Given the description of an element on the screen output the (x, y) to click on. 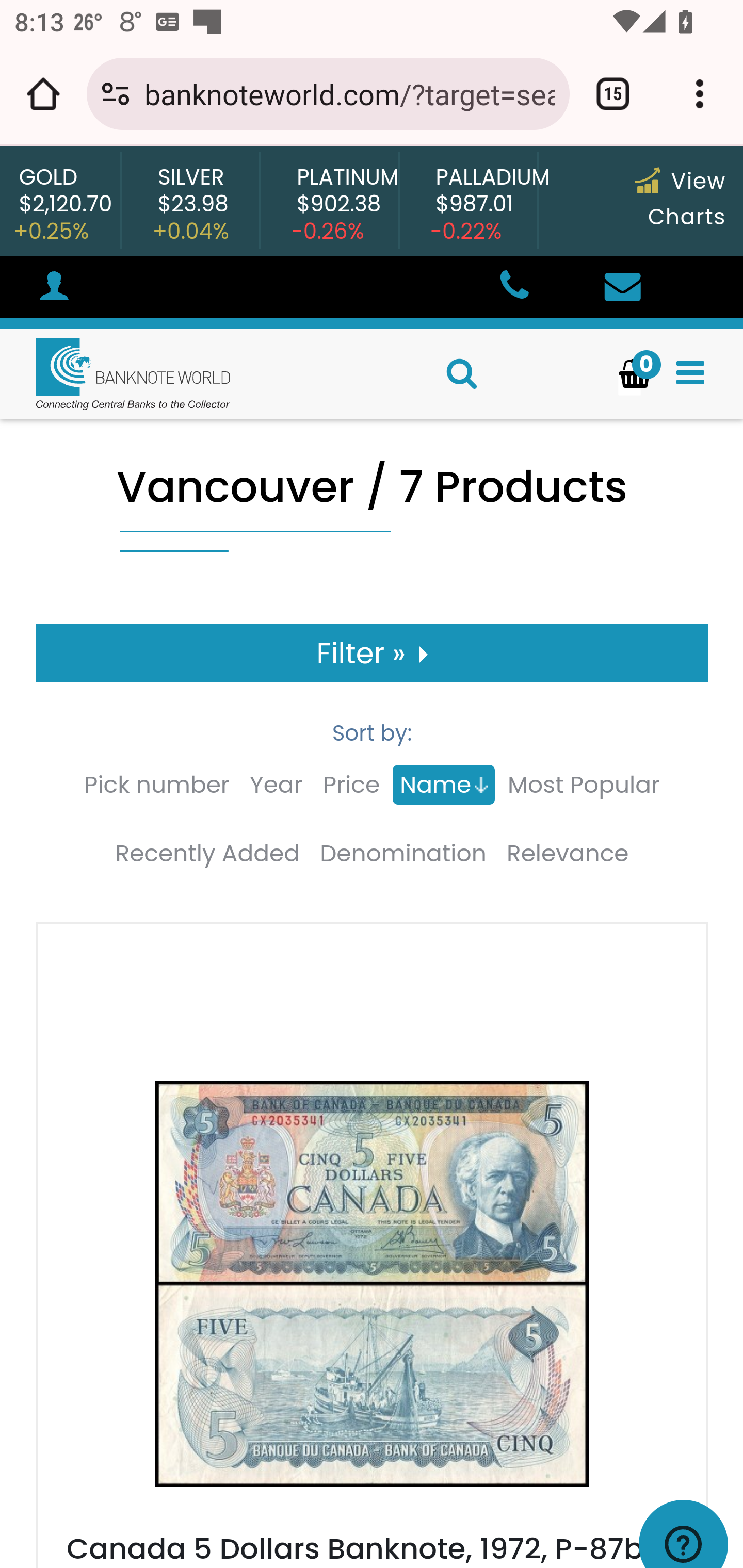
Open the home page (43, 93)
Connection is secure (115, 93)
Switch or close tabs (612, 93)
Customize and control Google Chrome (699, 93)
View Charts (680, 199)
 (513, 287)
 (622, 287)
# (54, 289)
Home (115, 373)
 (690, 373)
Filter »  (372, 652)
Pick number (156, 784)
Year (276, 784)
Price (350, 784)
Name (442, 784)
Most Popular (582, 784)
Recently Added (206, 853)
Denomination (403, 853)
Relevance (567, 853)
Canada 5 Dollars Banknote, 1972, P-87b, Used (371, 1296)
Canada 5 Dollars Banknote, 1972, P-87b, Used (358, 1547)
